Given the description of an element on the screen output the (x, y) to click on. 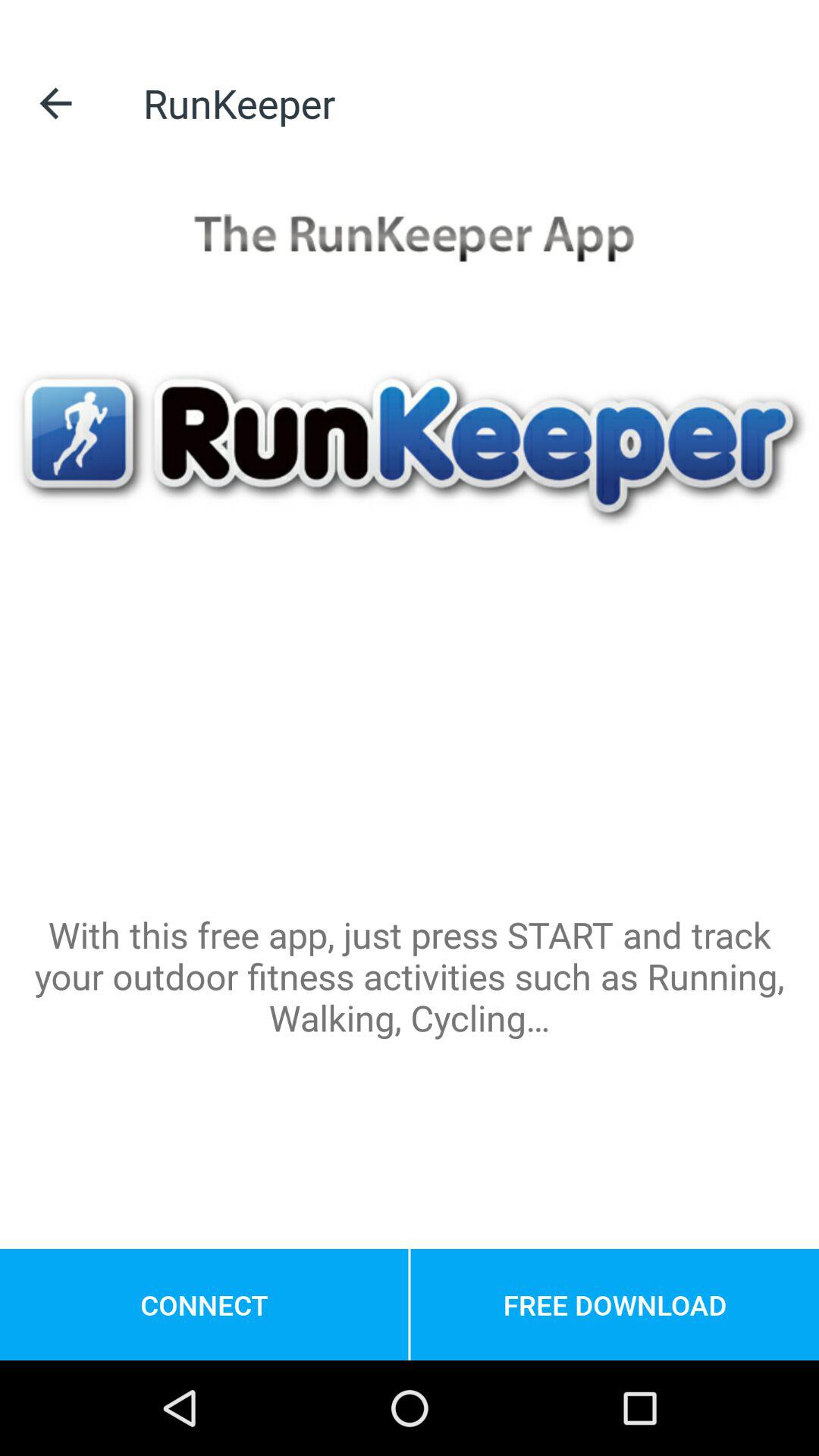
return arrow (55, 103)
